Given the description of an element on the screen output the (x, y) to click on. 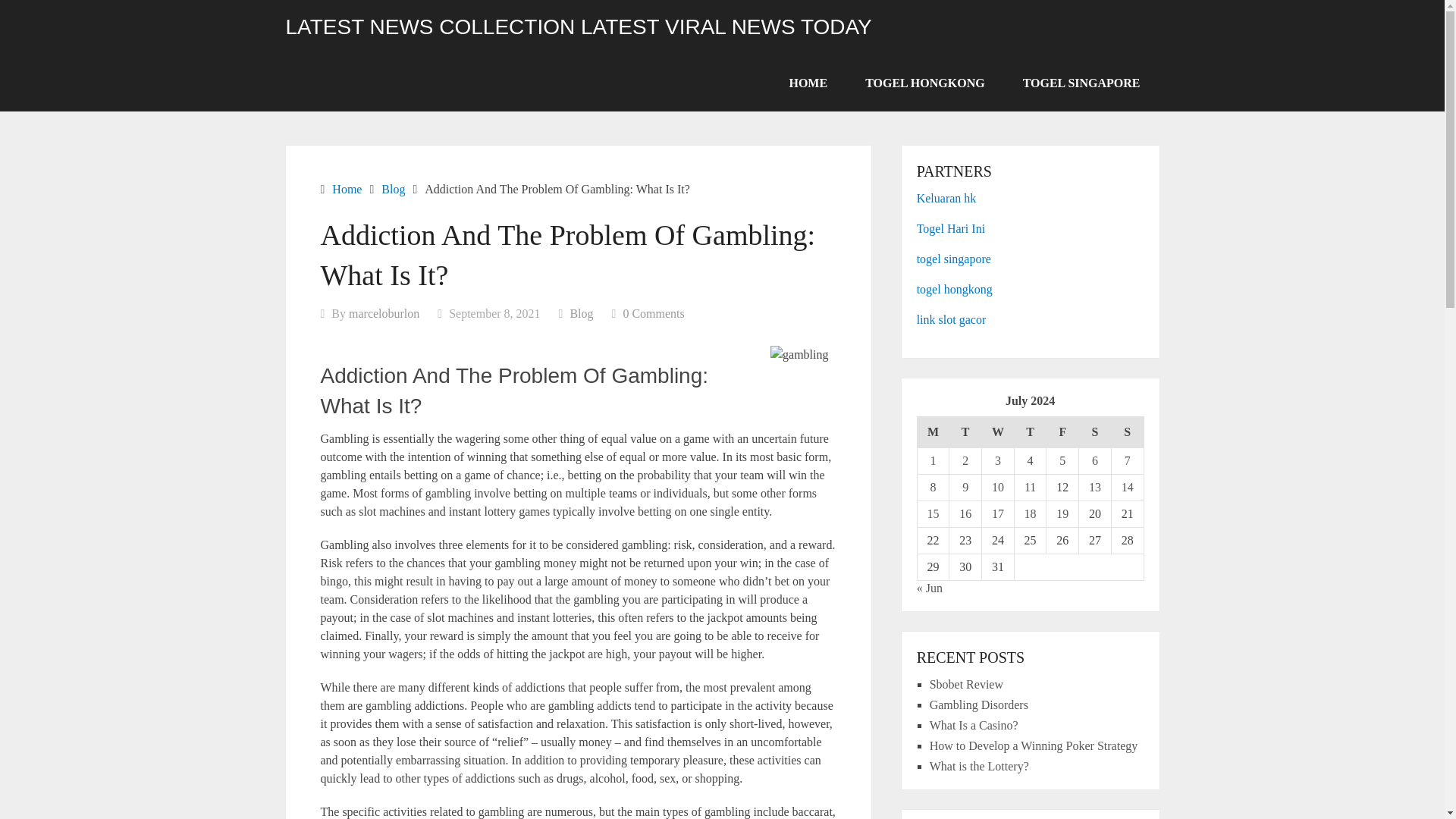
0 Comments (653, 313)
LATEST NEWS COLLECTION LATEST VIRAL NEWS TODAY (577, 26)
Thursday (1029, 431)
Sunday (1126, 431)
TOGEL HONGKONG (924, 83)
19 (1062, 513)
Wednesday (997, 431)
What Is a Casino? (973, 725)
18 (1030, 513)
Monday (933, 431)
14 (1127, 486)
16 (965, 513)
Togel Hari Ini (951, 228)
Tuesday (965, 431)
Home (346, 188)
